Given the description of an element on the screen output the (x, y) to click on. 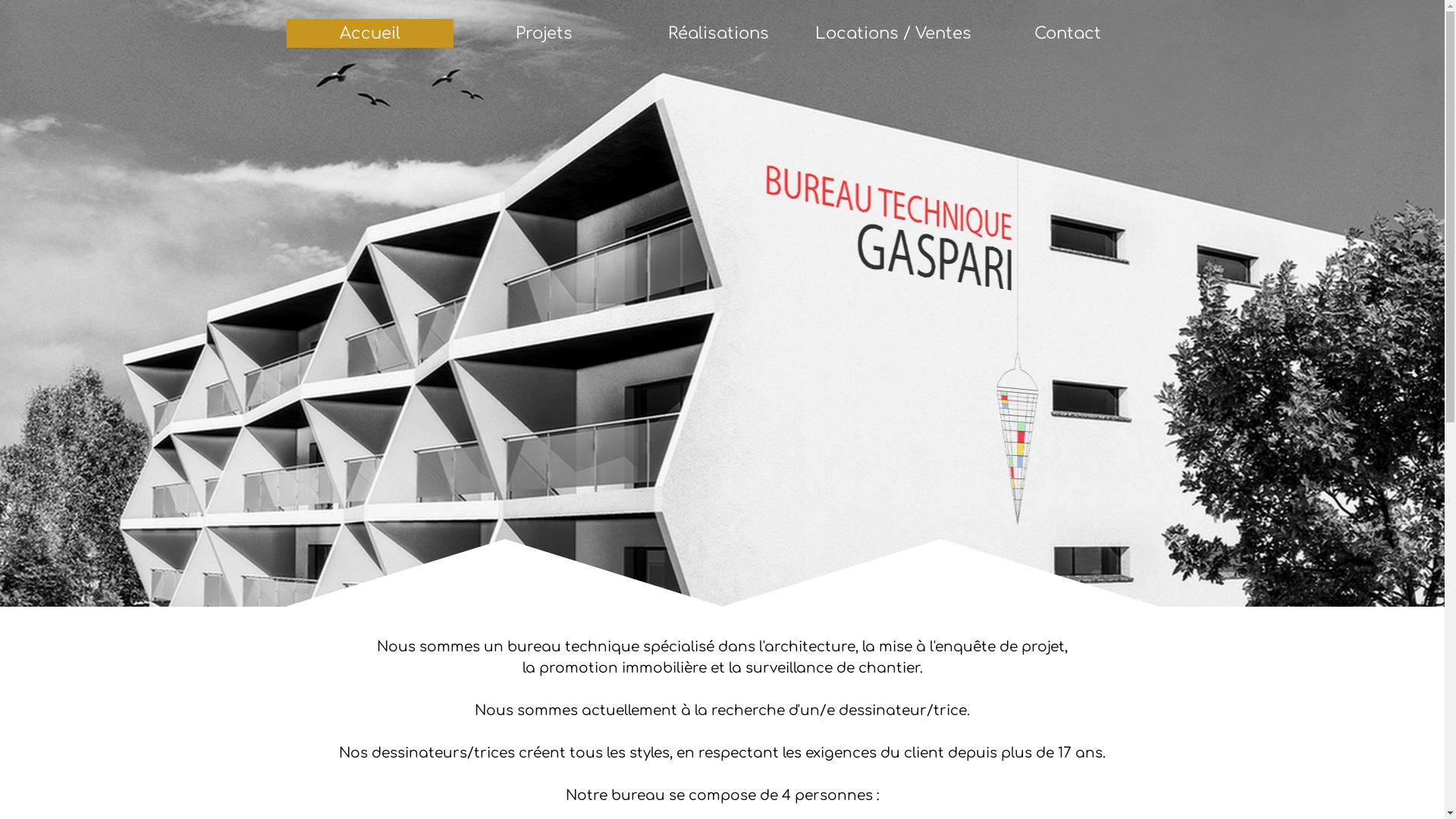
Locations / Ventes Element type: text (892, 32)
Projets Element type: text (543, 32)
Contact Element type: text (1066, 32)
Accueil Element type: text (368, 32)
